Given the description of an element on the screen output the (x, y) to click on. 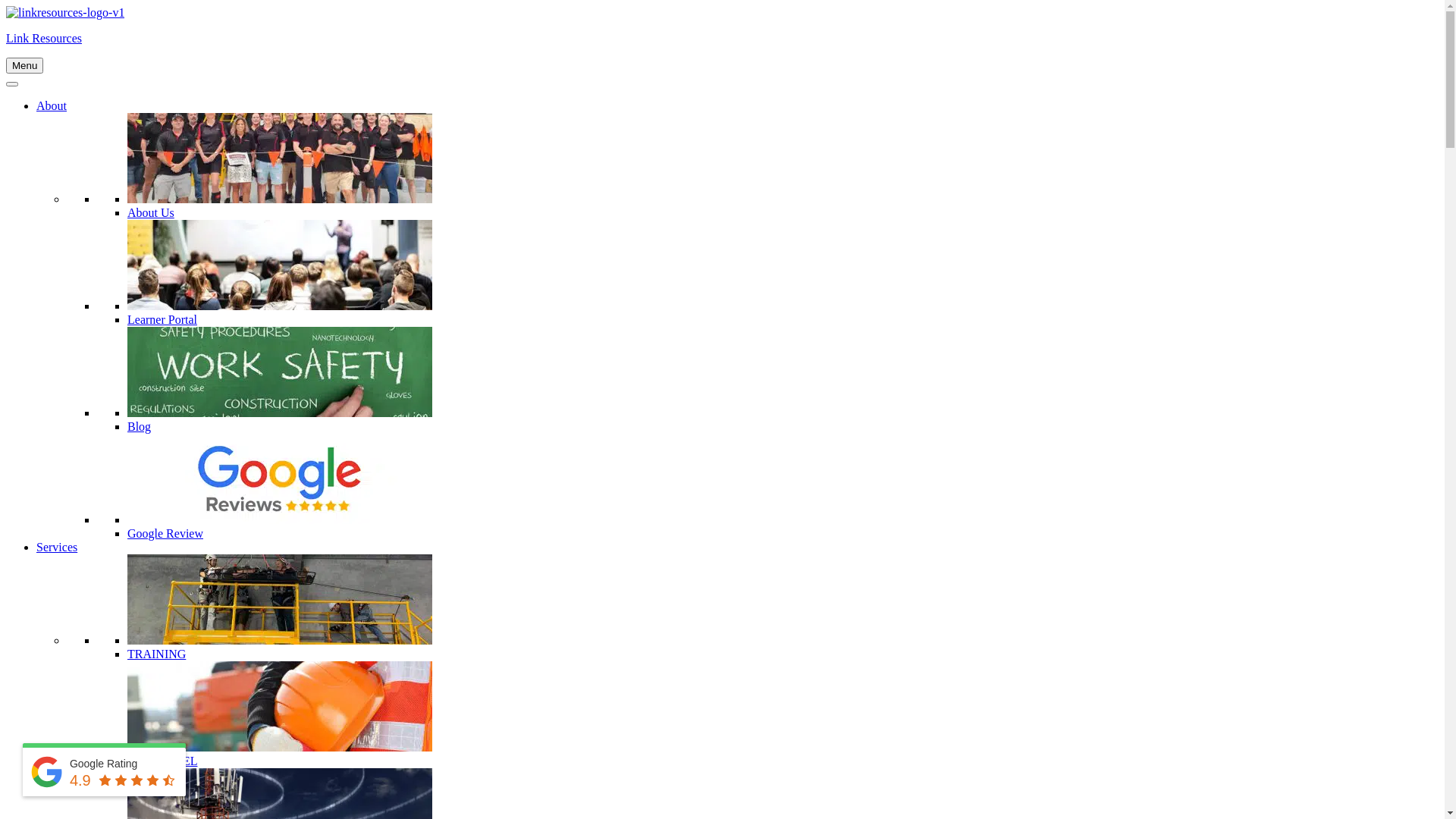
Google Review Element type: text (165, 533)
Learner Portal Element type: text (162, 319)
About Us Element type: text (150, 212)
Link Resources Element type: text (43, 37)
PERSONNEL Element type: text (162, 760)
Skip to content Element type: text (5, 5)
TRAINING Element type: text (156, 653)
Menu Element type: text (24, 65)
Services Element type: text (56, 546)
About Element type: text (51, 105)
Blog Element type: text (138, 426)
